Given the description of an element on the screen output the (x, y) to click on. 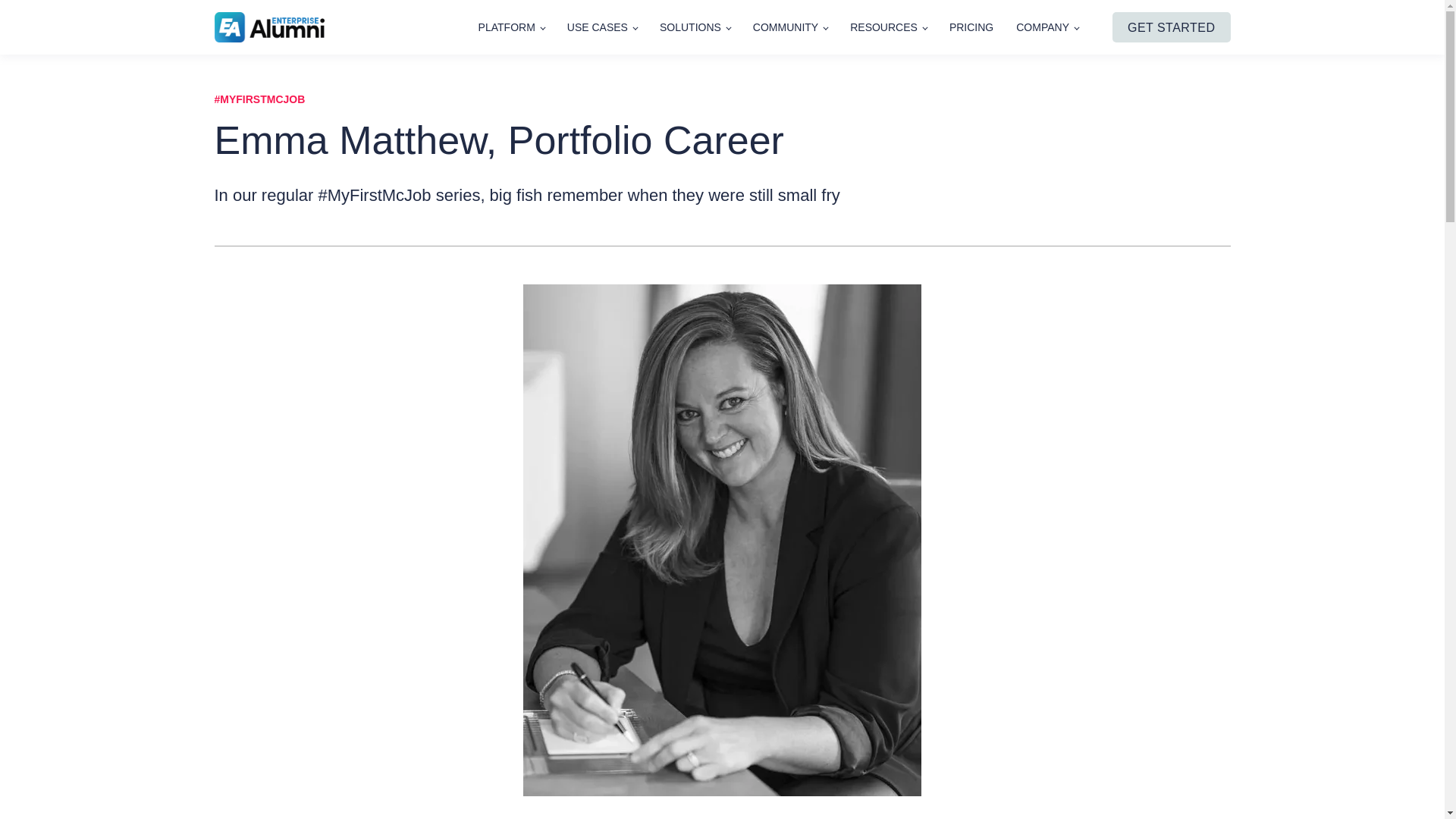
RESOURCES (888, 27)
COMMUNITY (789, 27)
USE CASES (602, 27)
PLATFORM (511, 27)
SOLUTIONS (694, 27)
